Given the description of an element on the screen output the (x, y) to click on. 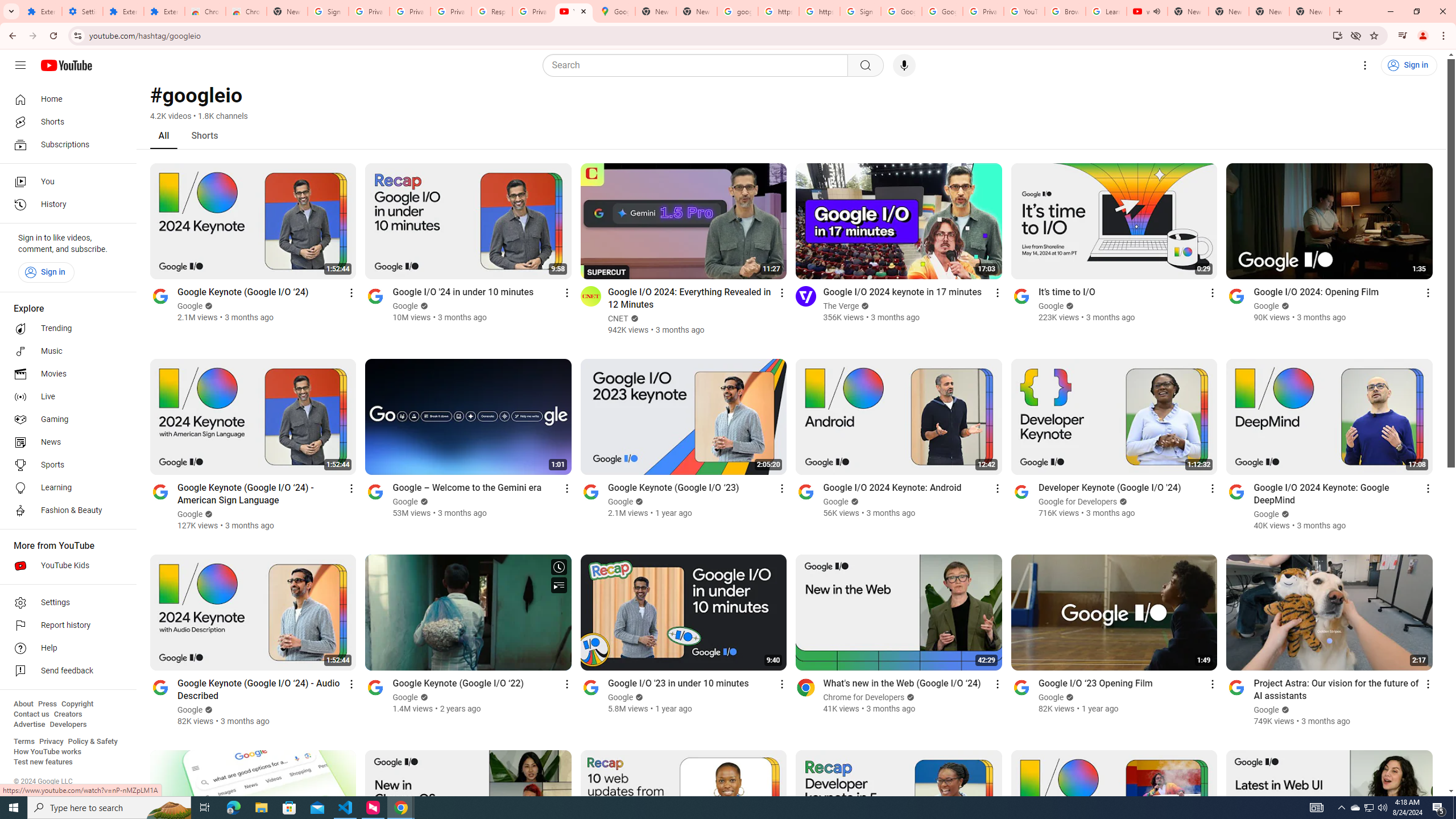
Report history (64, 625)
Sign in - Google Accounts (327, 11)
Policy & Safety (91, 741)
Trending (64, 328)
Copyright (77, 703)
How YouTube works (47, 751)
